Given the description of an element on the screen output the (x, y) to click on. 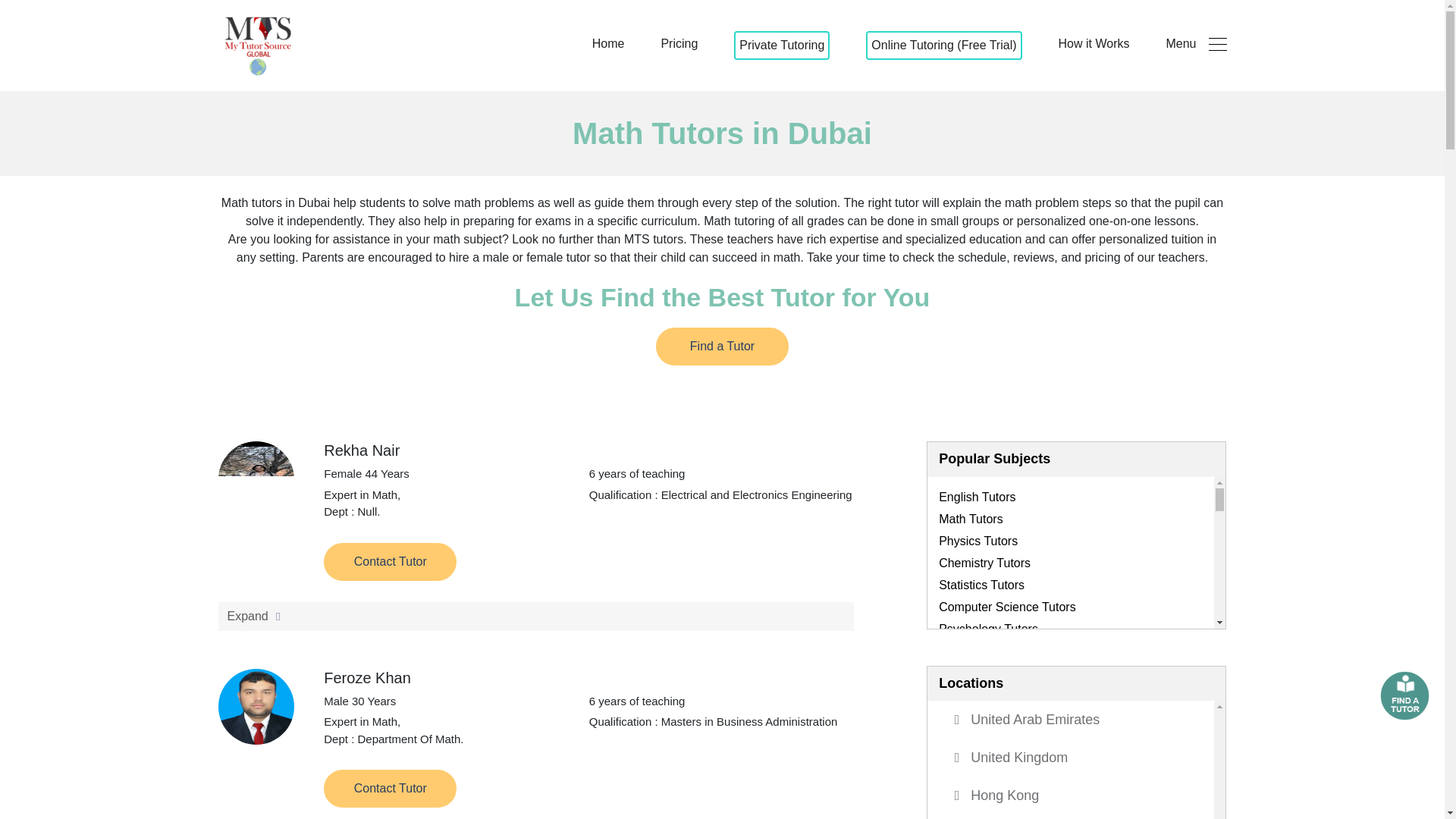
How it Works (1093, 43)
Menu (1195, 43)
Pricing (679, 43)
Contact Tutor (1076, 760)
Home (390, 788)
Find a Tutor (608, 43)
Private Tutoring (722, 346)
Expand (781, 45)
Contact Tutor (536, 615)
